Given the description of an element on the screen output the (x, y) to click on. 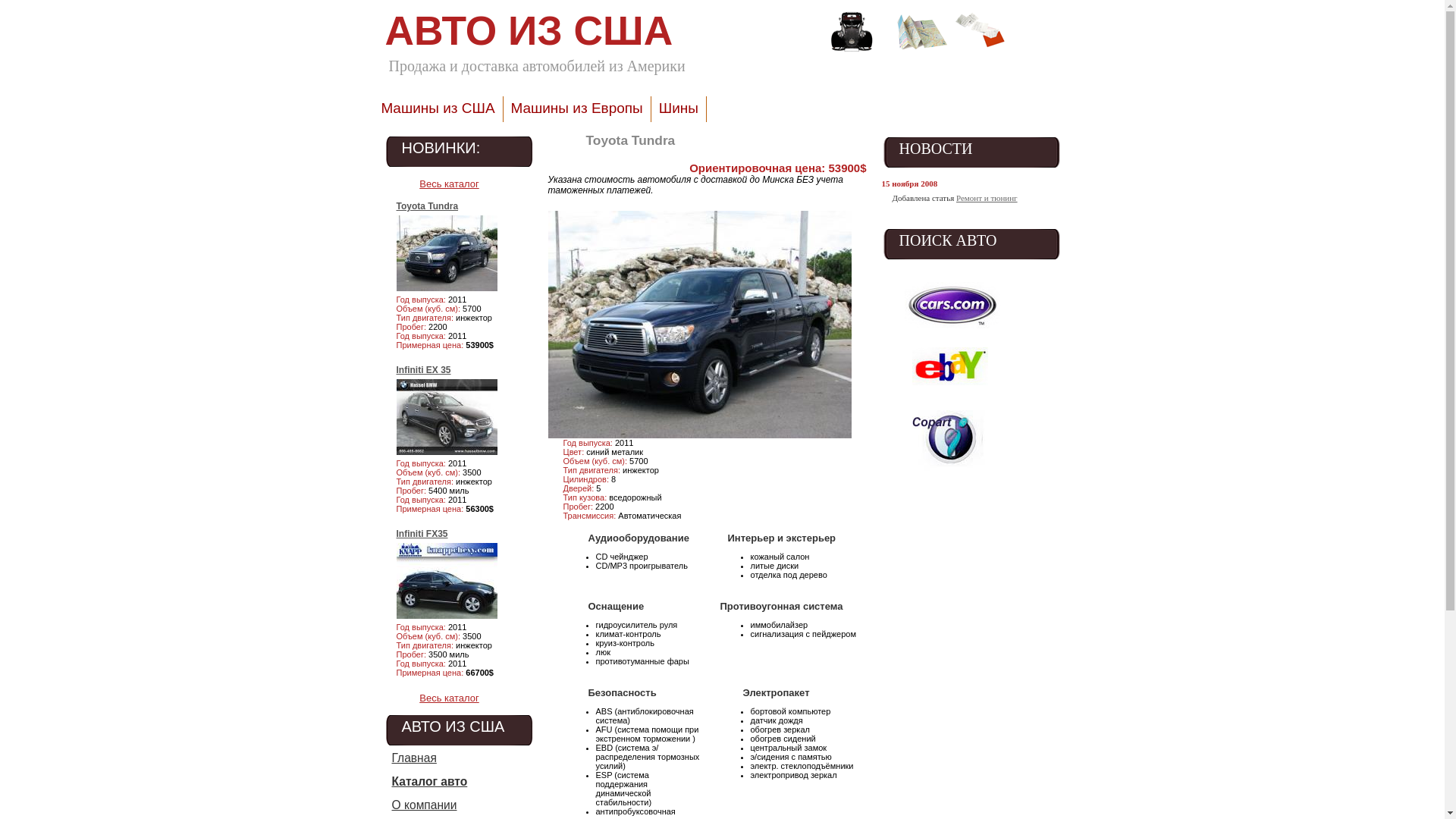
Infiniti FX35 Element type: text (421, 533)
Toyota Tundra Element type: text (426, 205)
Infiniti EX 35 Element type: text (422, 369)
